Given the description of an element on the screen output the (x, y) to click on. 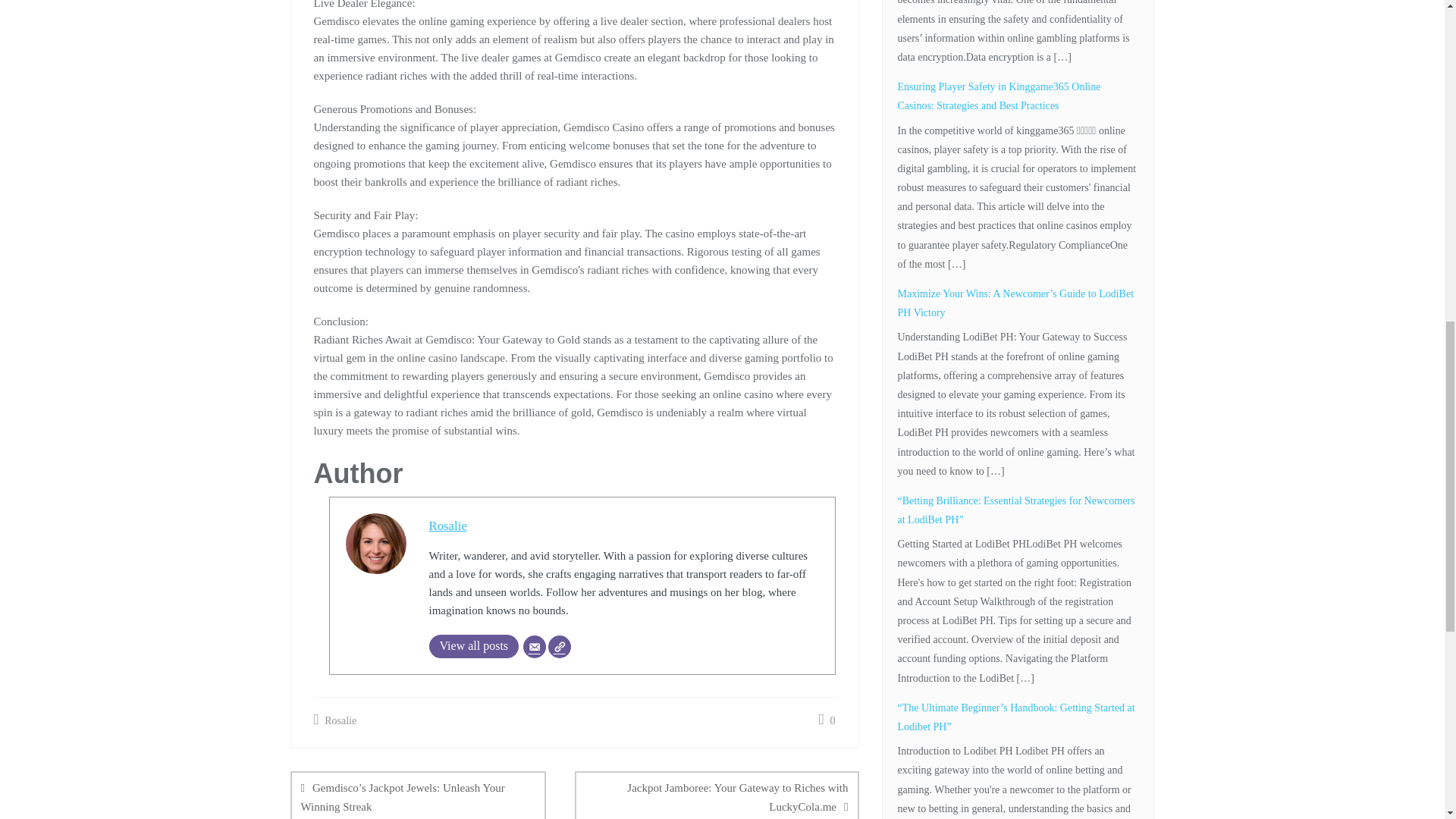
View all posts (474, 646)
Jackpot Jamboree: Your Gateway to Riches with LuckyCola.me (717, 795)
Rosalie (335, 720)
Rosalie (448, 525)
Rosalie (448, 525)
View all posts (474, 646)
